Given the description of an element on the screen output the (x, y) to click on. 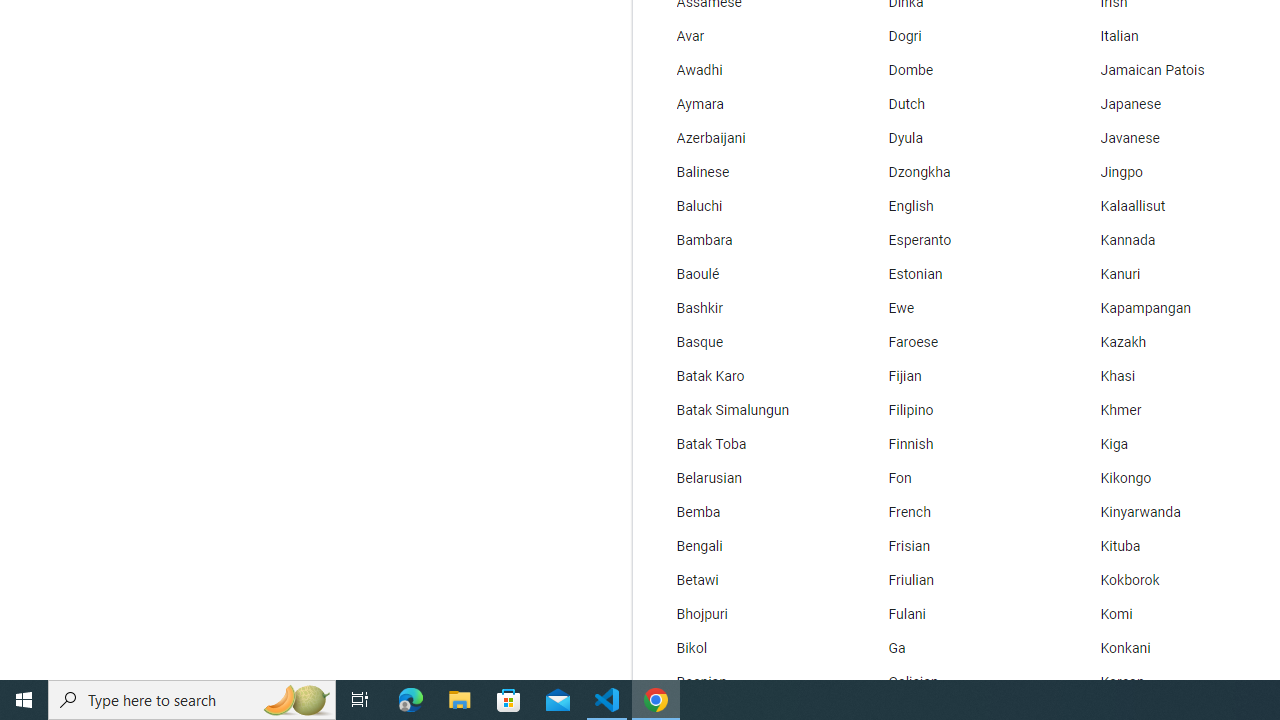
Bikol (745, 648)
Betawi (745, 580)
Dombe (957, 70)
Komi (1168, 614)
Kokborok (1168, 580)
Bemba (745, 512)
Kazakh (1168, 342)
Bosnian (745, 682)
Batak Karo (745, 376)
Kanuri (1168, 274)
Dutch (957, 104)
French (957, 512)
Kikongo (1168, 478)
Fulani (957, 614)
Estonian (957, 274)
